Given the description of an element on the screen output the (x, y) to click on. 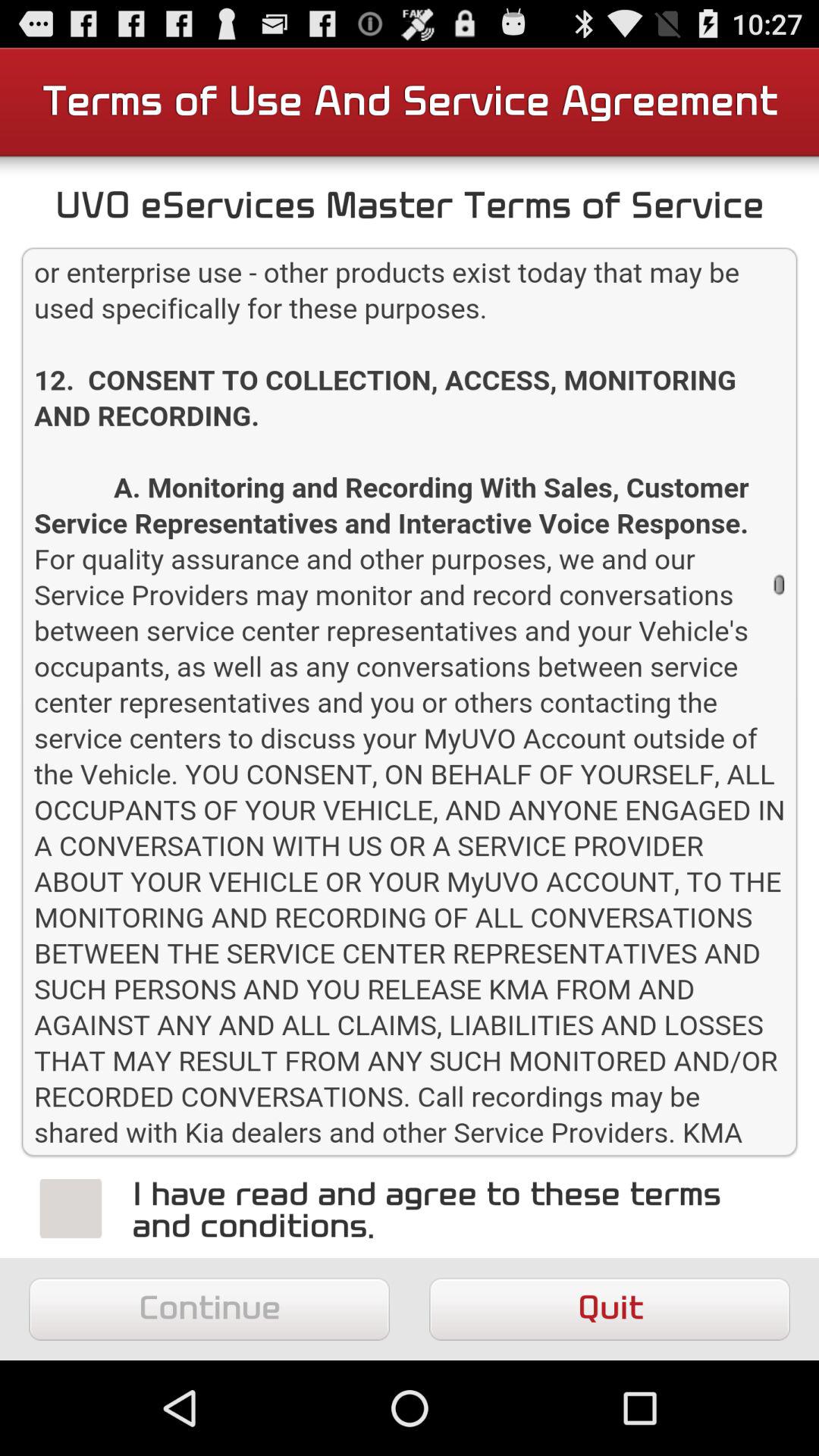
stop button (70, 1208)
